Given the description of an element on the screen output the (x, y) to click on. 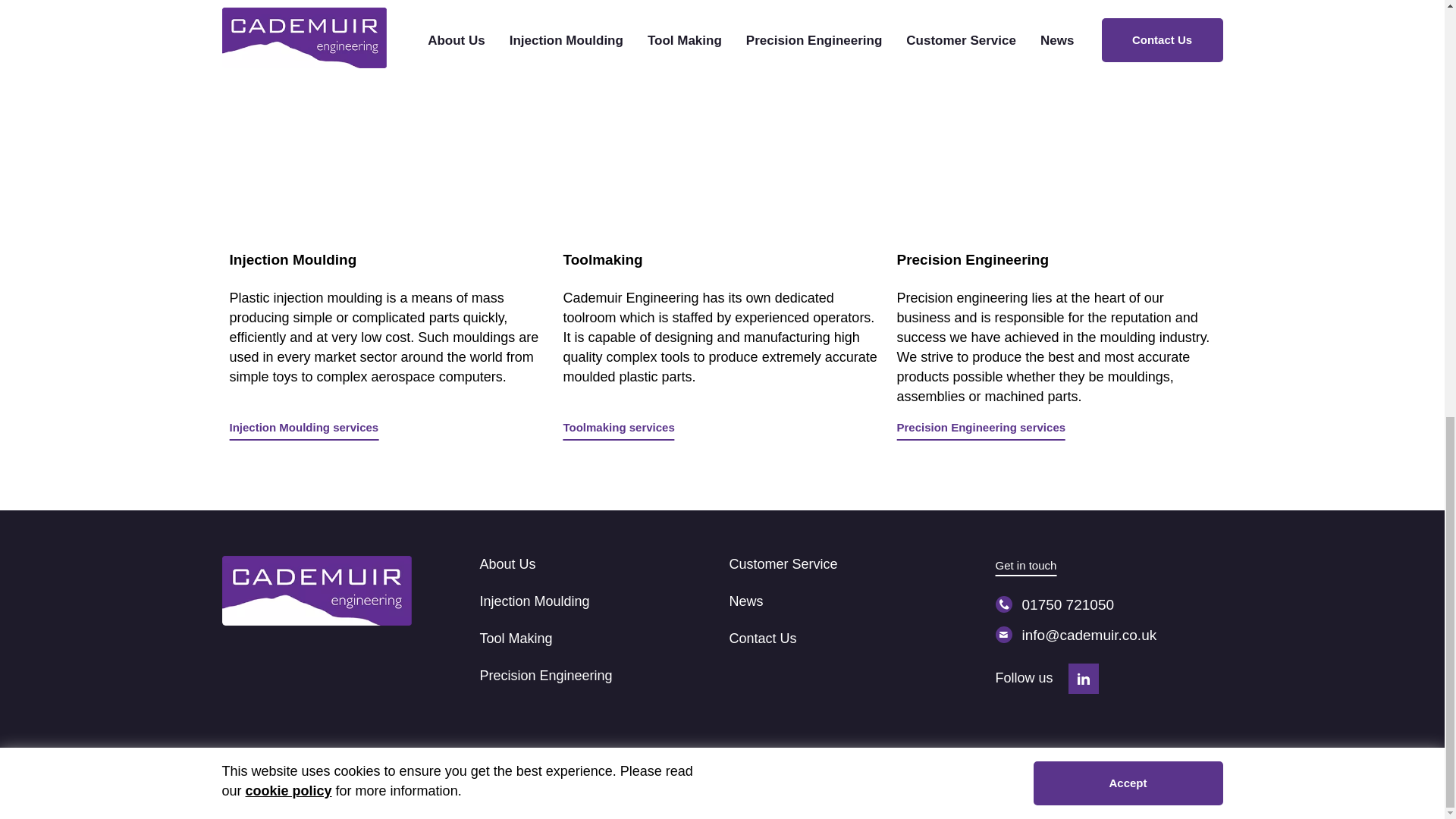
Injection Moulding (534, 601)
Contact Us (762, 638)
Injection Moulding services (303, 429)
Customer Service (783, 563)
Get in touch (1025, 566)
News (745, 601)
Precision Engineering (545, 675)
Tool Making (515, 638)
Toolmaking services (618, 429)
About Us (507, 563)
